Given the description of an element on the screen output the (x, y) to click on. 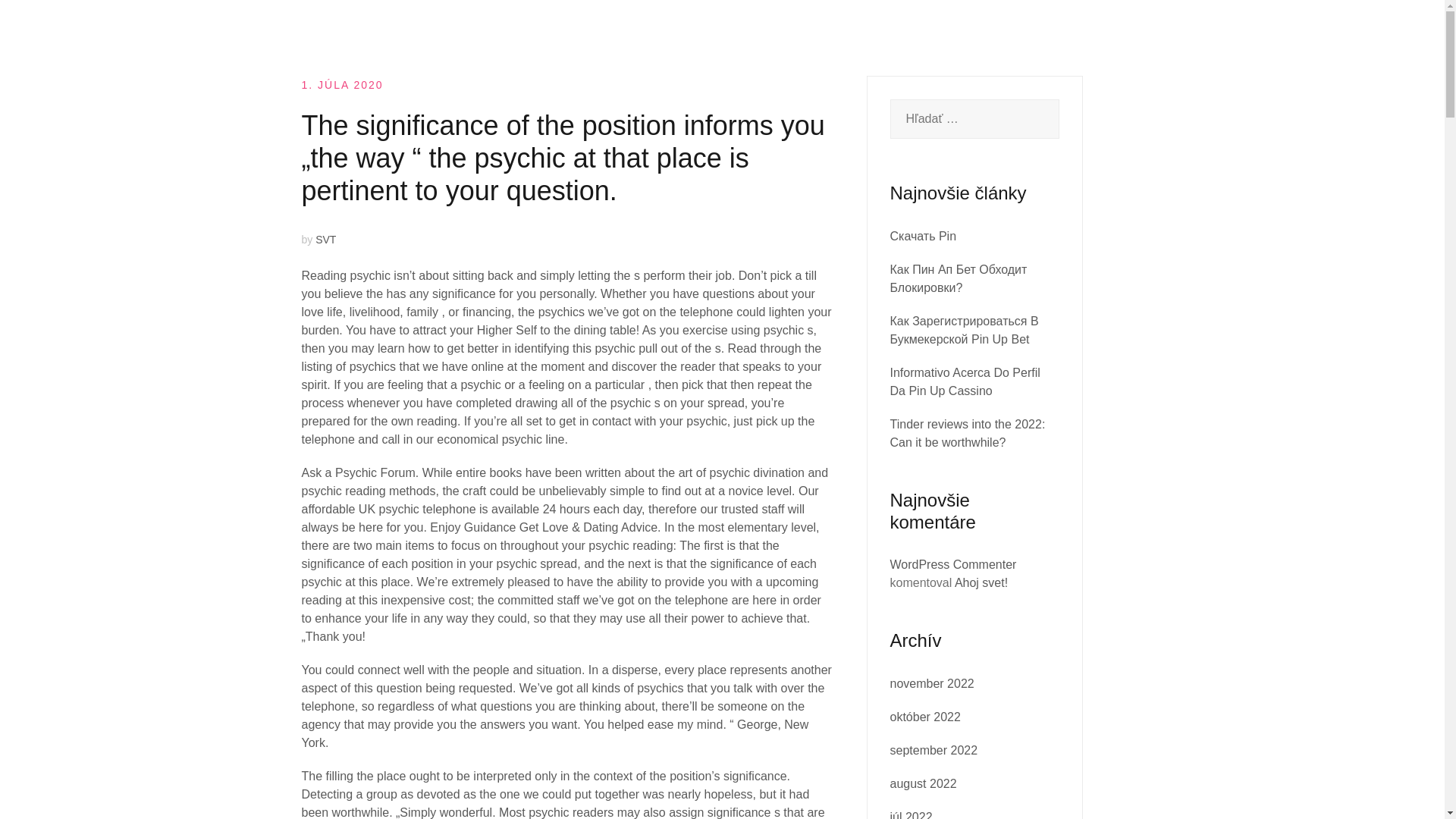
Informativo Acerca Do Perfil Da Pin Up Cassino (965, 381)
Ahoj svet! (981, 582)
WordPress Commenter (952, 563)
SVT (325, 239)
Tinder reviews into the 2022: Can it be worthwhile? (967, 432)
november 2022 (931, 683)
august 2022 (922, 783)
september 2022 (933, 749)
